Given the description of an element on the screen output the (x, y) to click on. 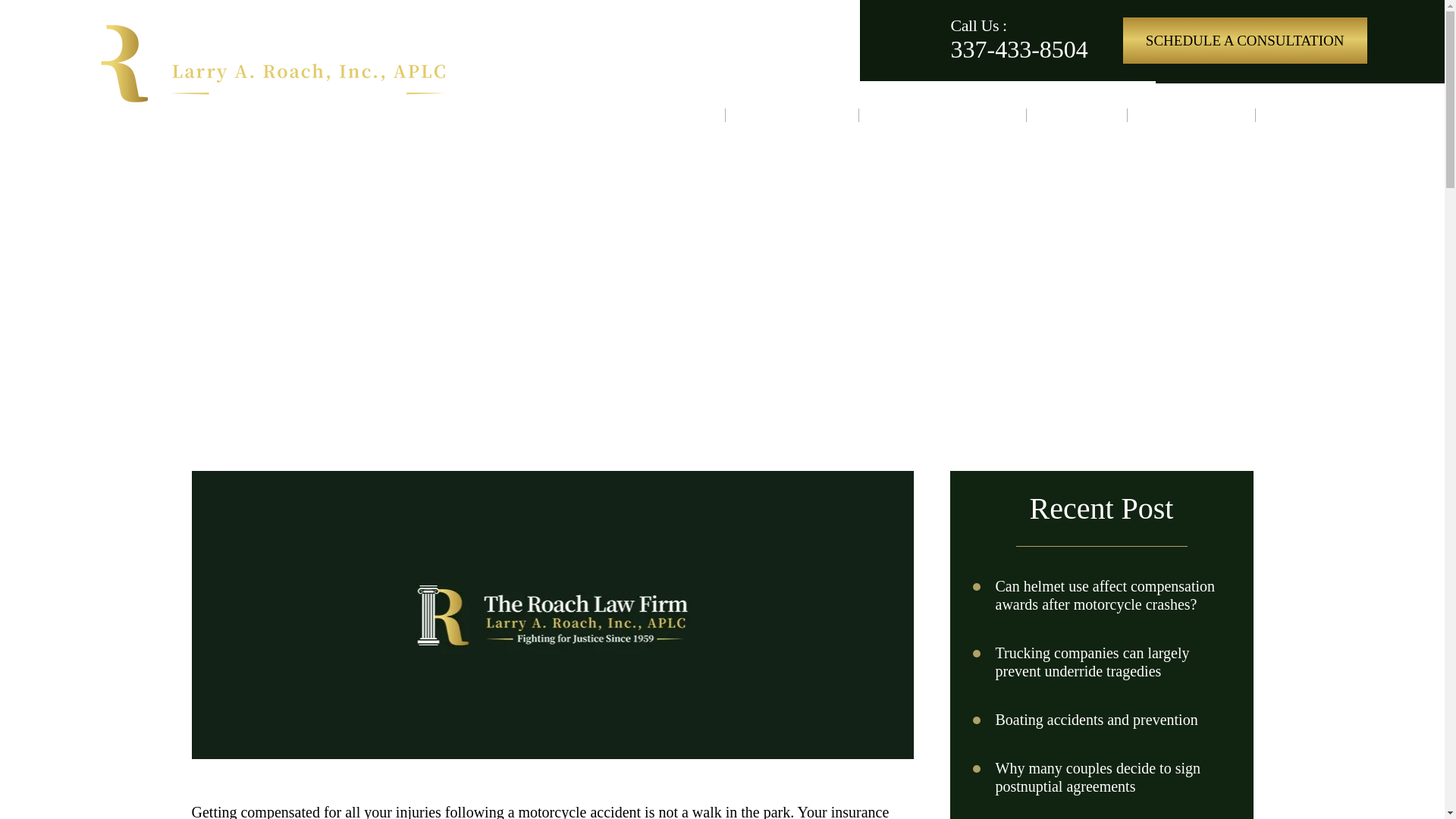
Go to The Roach Law Firm. (207, 294)
Go to the Serious Personal Injury category archives. (343, 294)
Go to Blog. (251, 294)
